Given the description of an element on the screen output the (x, y) to click on. 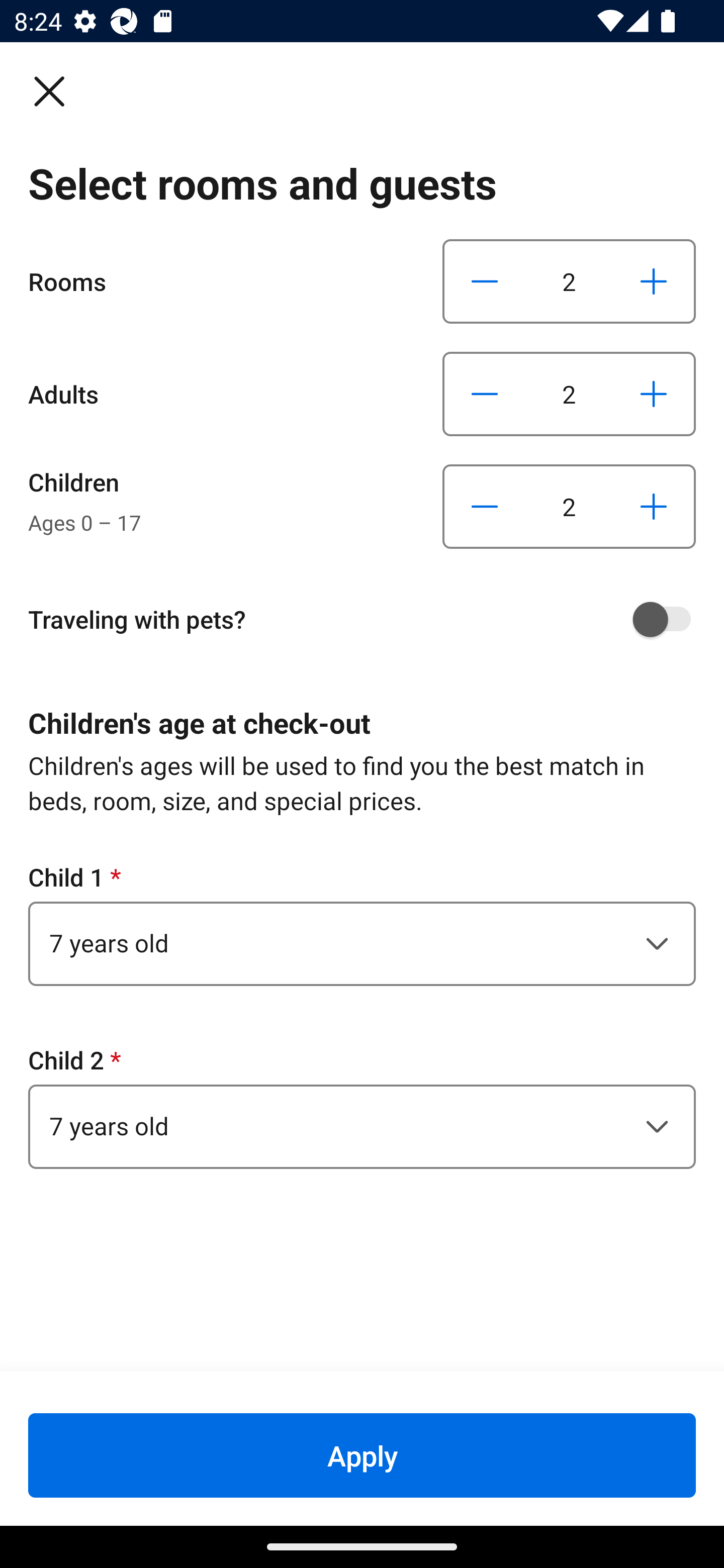
Decrease (484, 281)
Increase (653, 281)
Decrease (484, 393)
Increase (653, 393)
Decrease (484, 506)
Increase (653, 506)
Traveling with pets? (369, 619)
Child 1
required Child 1 * 7 years old (361, 922)
Child 2
required Child 2 * 7 years old (361, 1105)
Apply (361, 1454)
